Given the description of an element on the screen output the (x, y) to click on. 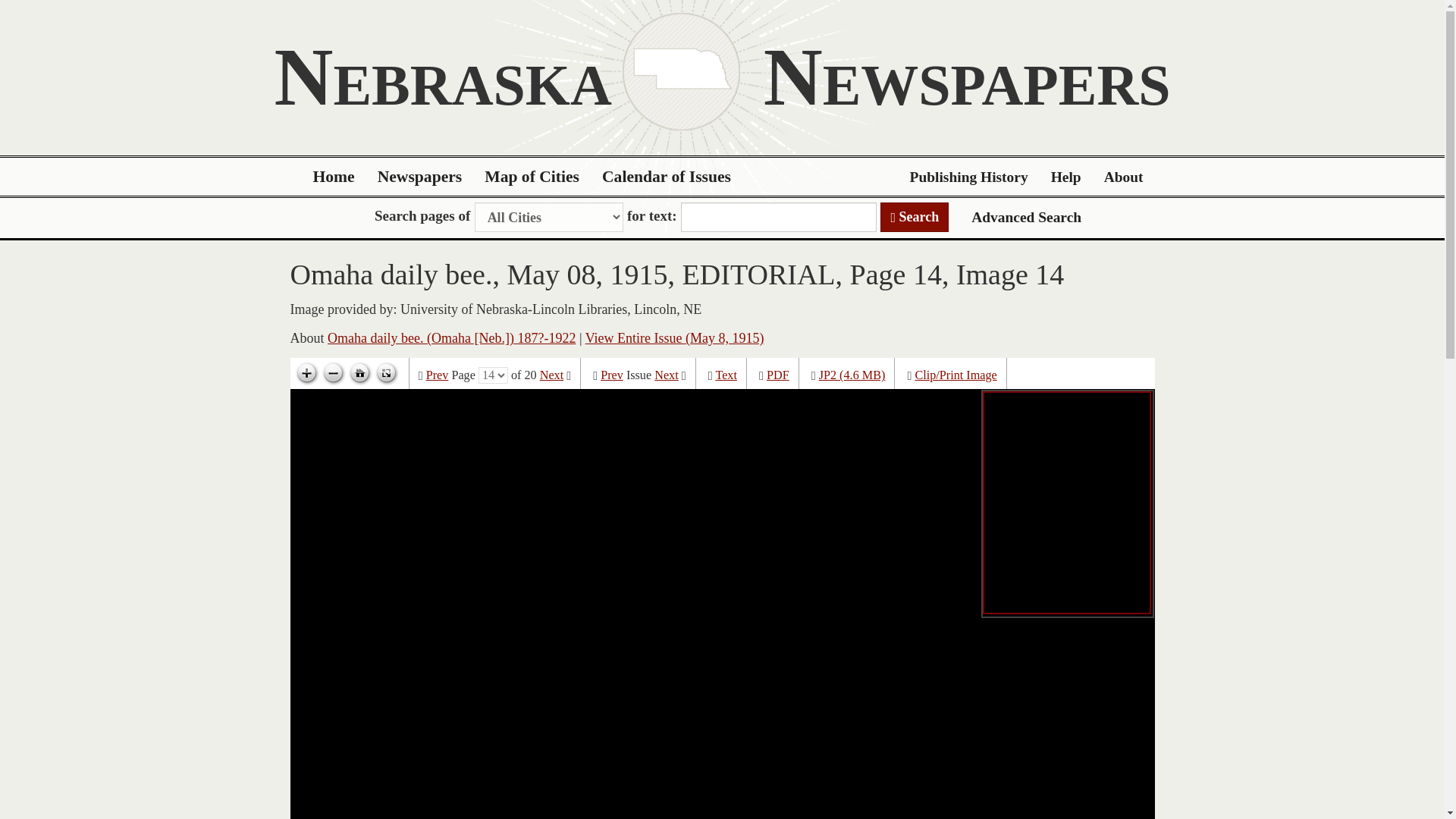
Zoom in (307, 373)
Search (914, 217)
Help (1066, 176)
Next (551, 375)
Advanced Search (1026, 216)
Zoom out (333, 373)
Home (333, 176)
Calendar of Issues (666, 176)
About (1123, 176)
Publishing History (968, 176)
